Given the description of an element on the screen output the (x, y) to click on. 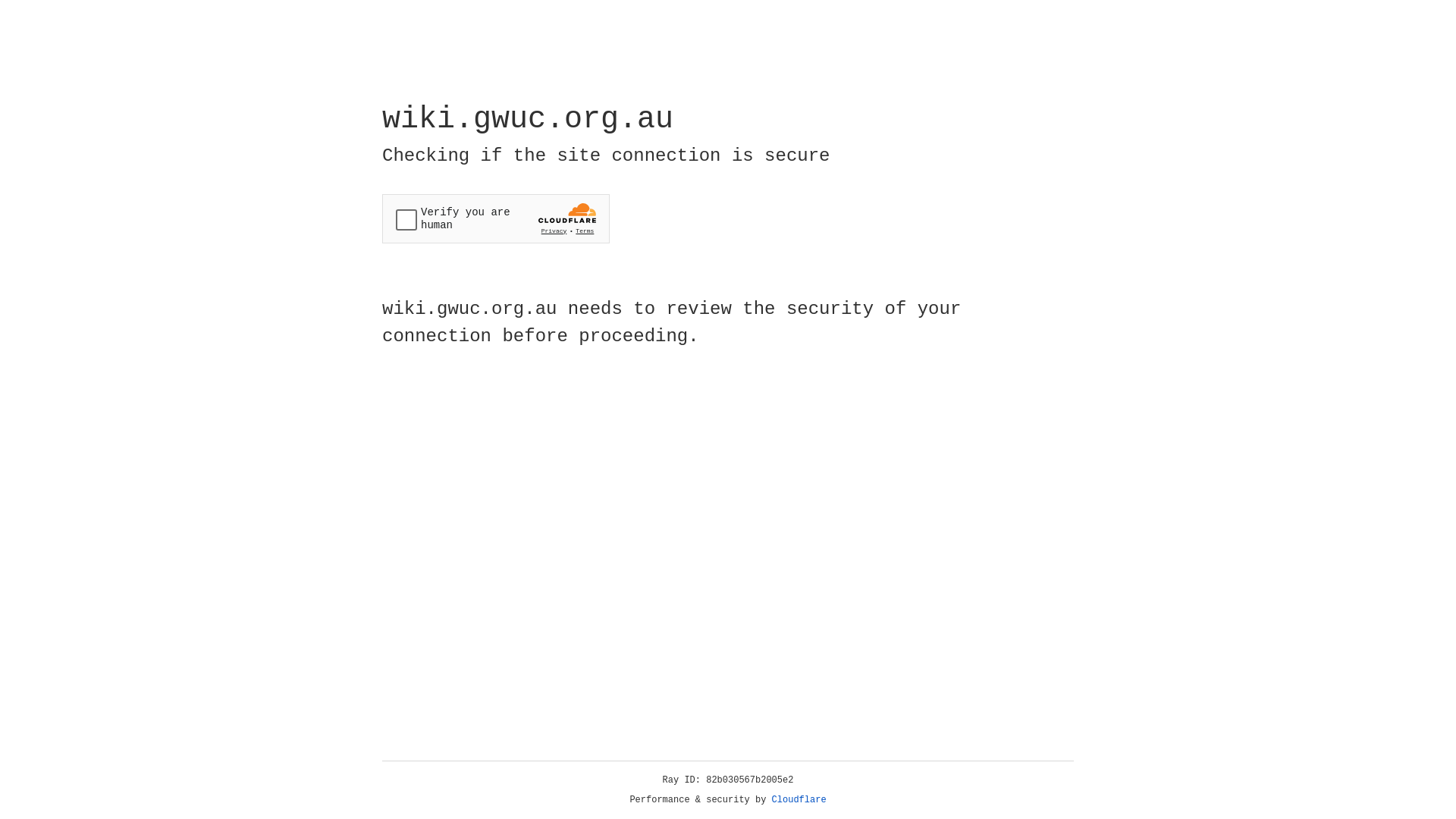
Cloudflare Element type: text (798, 799)
Widget containing a Cloudflare security challenge Element type: hover (495, 218)
